Given the description of an element on the screen output the (x, y) to click on. 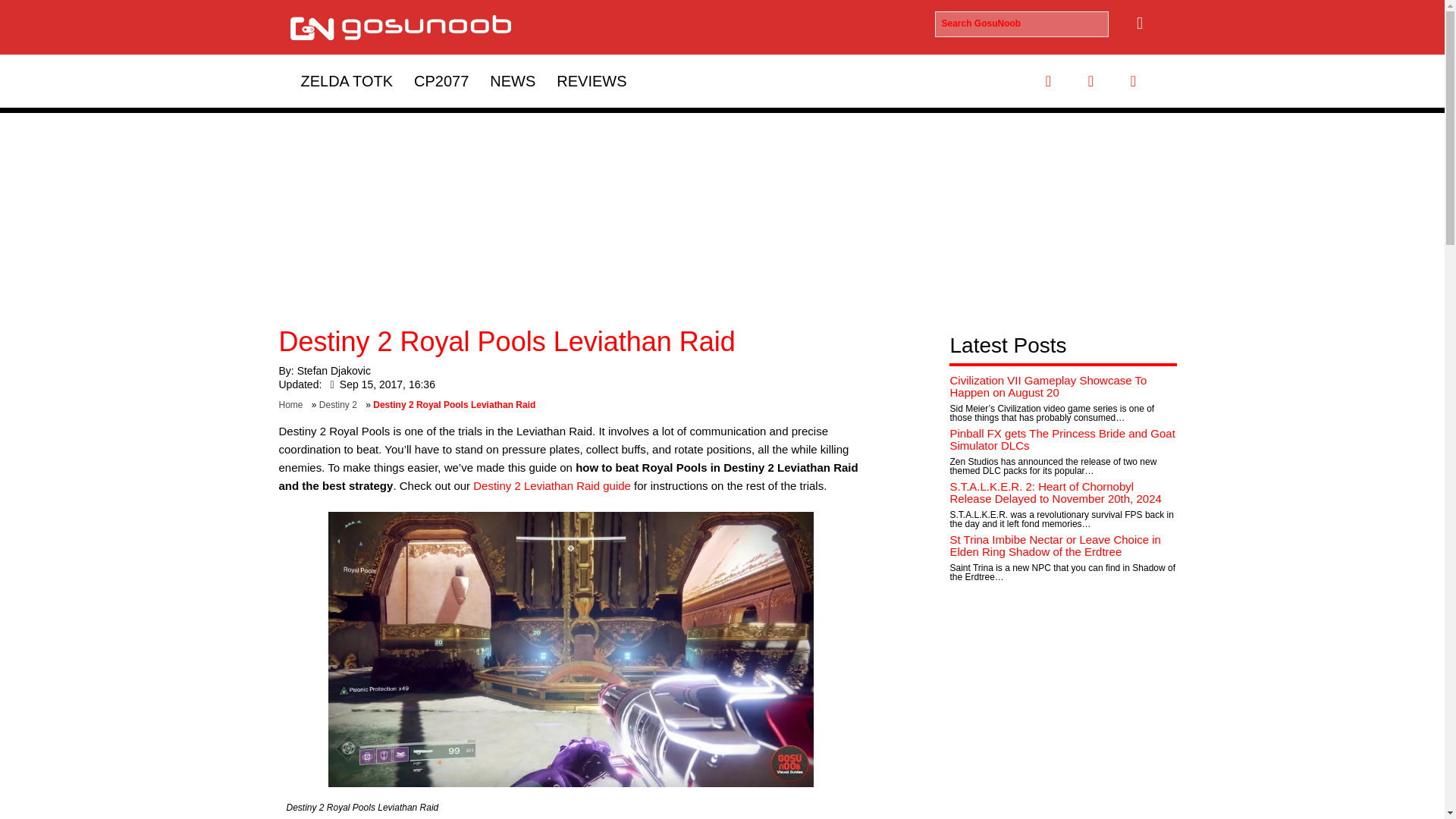
Pinball FX gets The Princess Bride and Goat Simulator DLCs (1061, 439)
Pinball FX gets The Princess Bride and Goat Simulator DLCs (1061, 439)
ZELDA TOTK (346, 80)
Home (293, 404)
NEWS (512, 80)
Civilization VII Gameplay Showcase To Happen on August 20 (1048, 386)
CP2077 (441, 80)
